Given the description of an element on the screen output the (x, y) to click on. 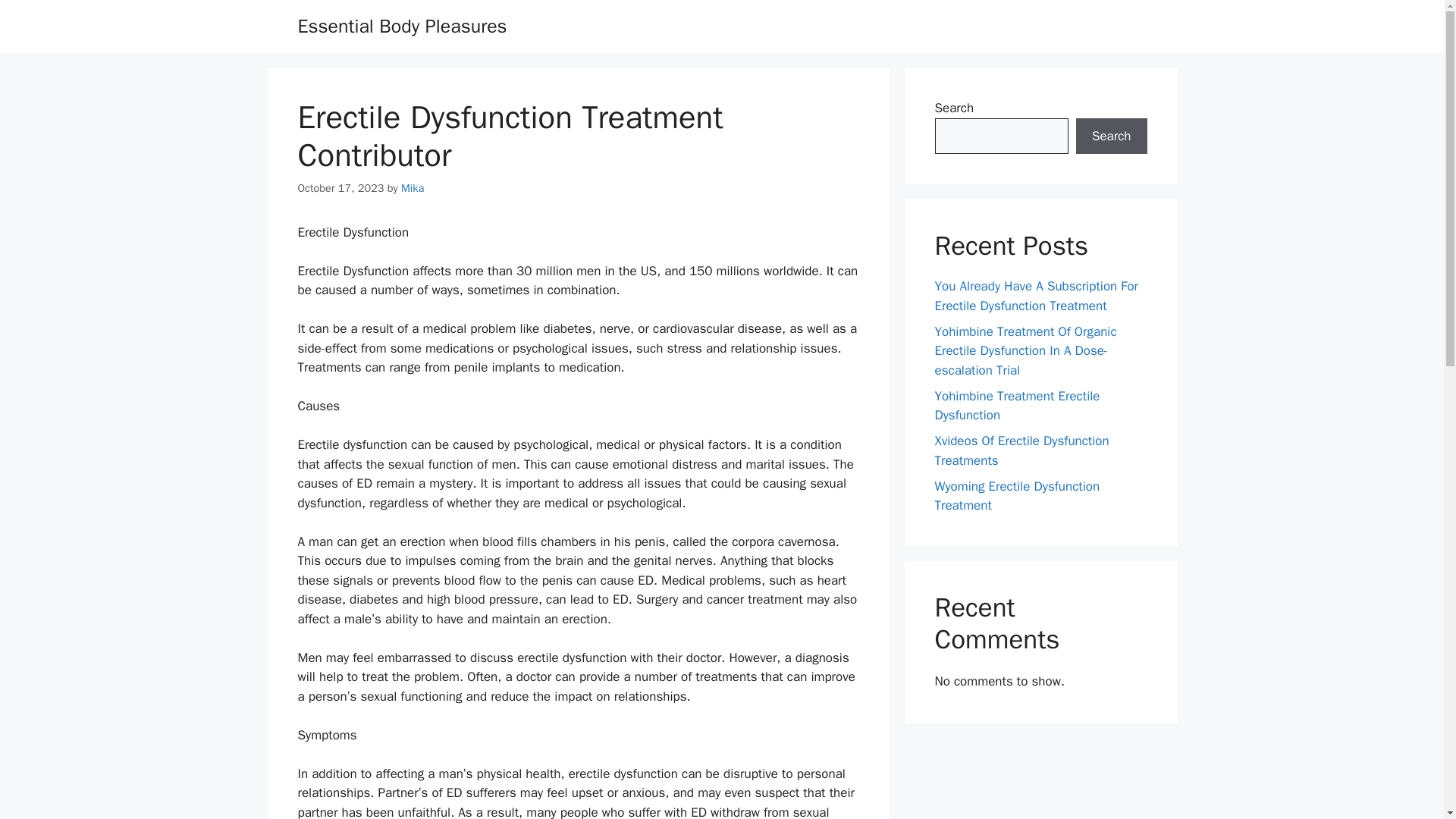
Essential Body Pleasures (401, 25)
Wyoming Erectile Dysfunction Treatment (1016, 495)
Yohimbine Treatment Erectile Dysfunction (1016, 406)
Search (1111, 135)
Xvideos Of Erectile Dysfunction Treatments (1021, 450)
View all posts by Mika (412, 187)
Mika (412, 187)
